Given the description of an element on the screen output the (x, y) to click on. 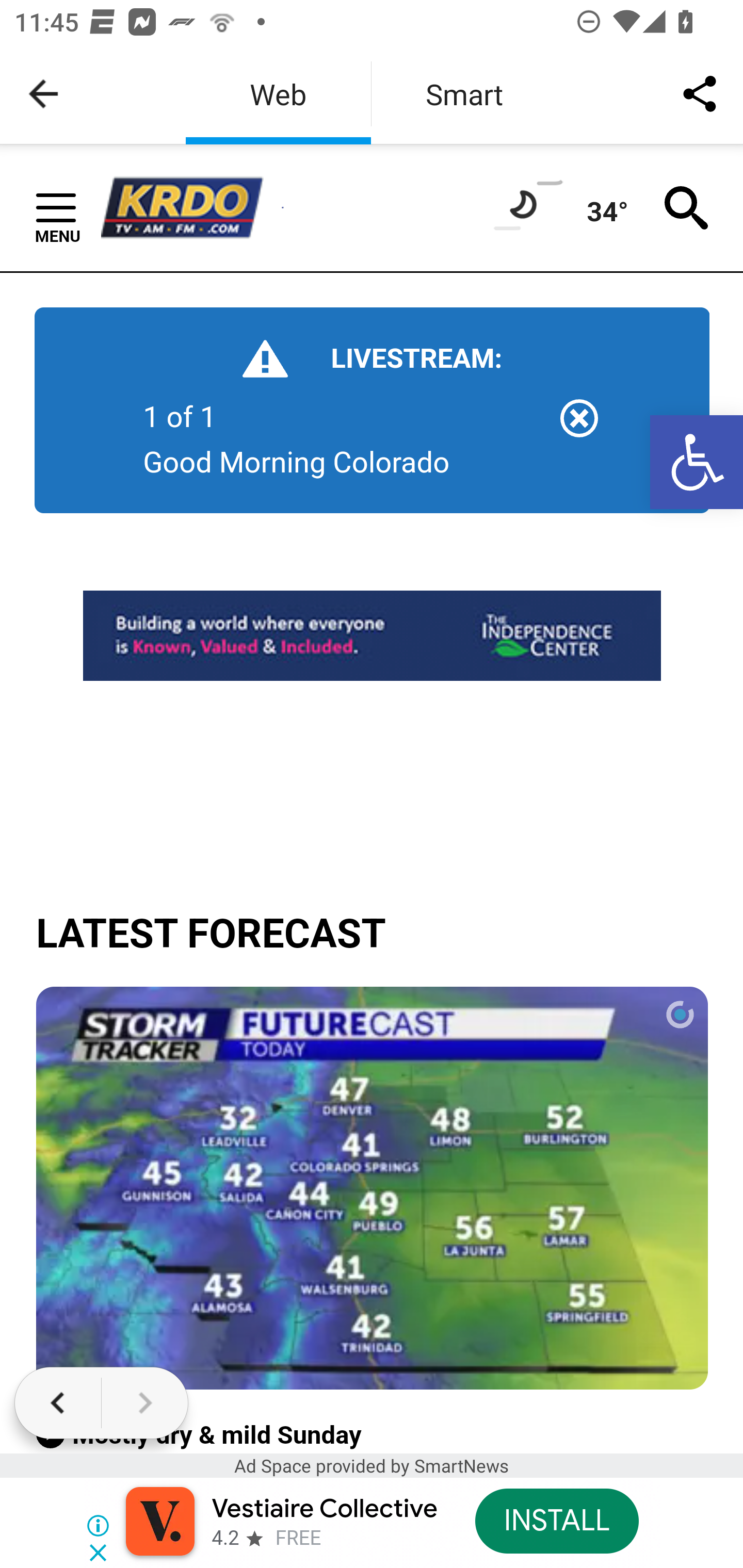
Web (277, 93)
Smart (464, 93)
KRDO  KRDO   (191, 208)
# search (686, 206)
LATEST FORECAST (372, 933)
Optimized by minute.ly (372, 1189)
Optimized by minute.ly (679, 1015)
INSTALL (556, 1520)
Vestiaire Collective (324, 1508)
